Given the description of an element on the screen output the (x, y) to click on. 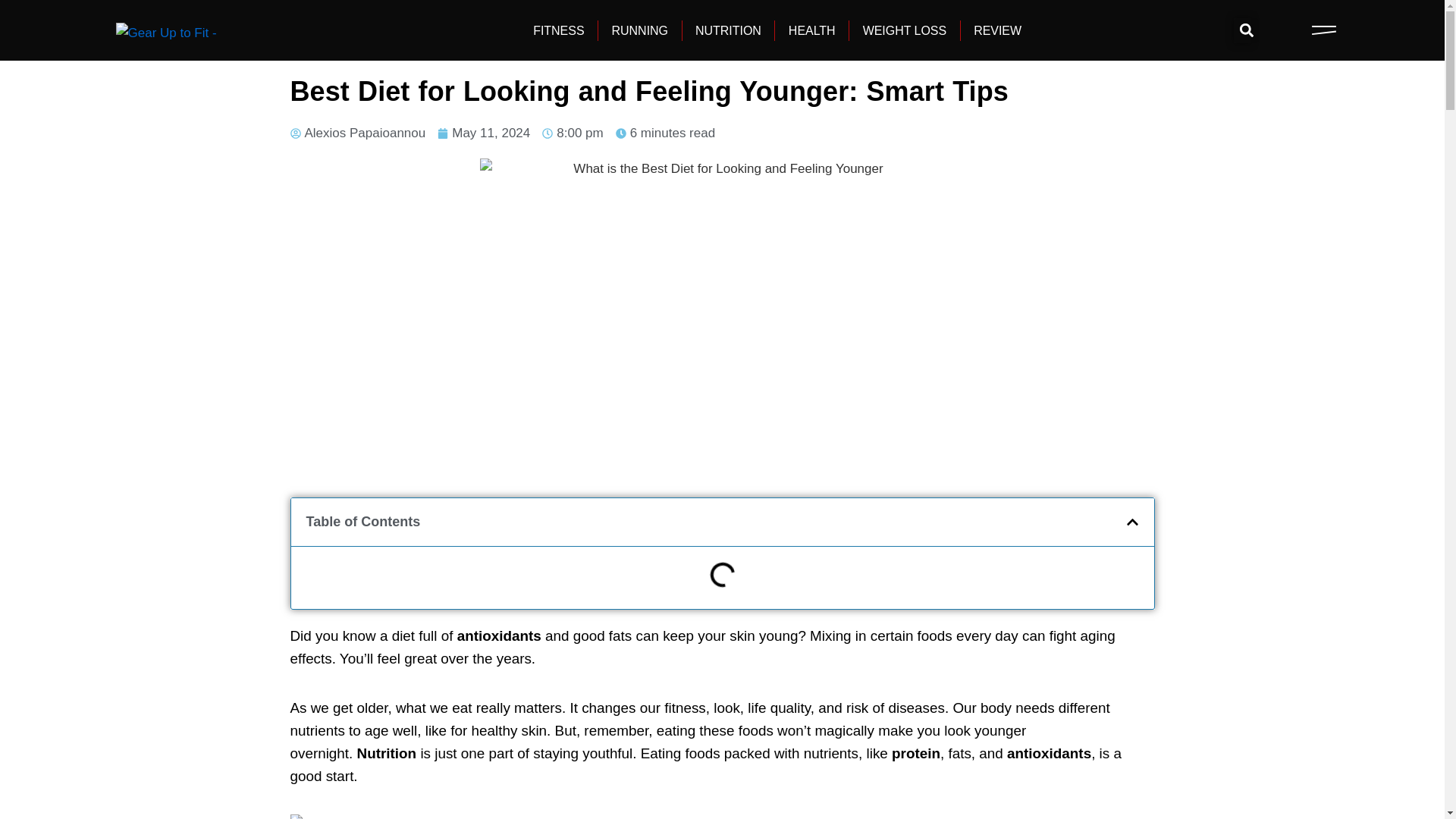
NUTRITION (728, 29)
May 11, 2024 (483, 132)
RUNNING (639, 29)
FITNESS (557, 29)
REVIEW (998, 29)
HEALTH (812, 29)
Alexios Papaioannou (357, 132)
WEIGHT LOSS (905, 29)
